Given the description of an element on the screen output the (x, y) to click on. 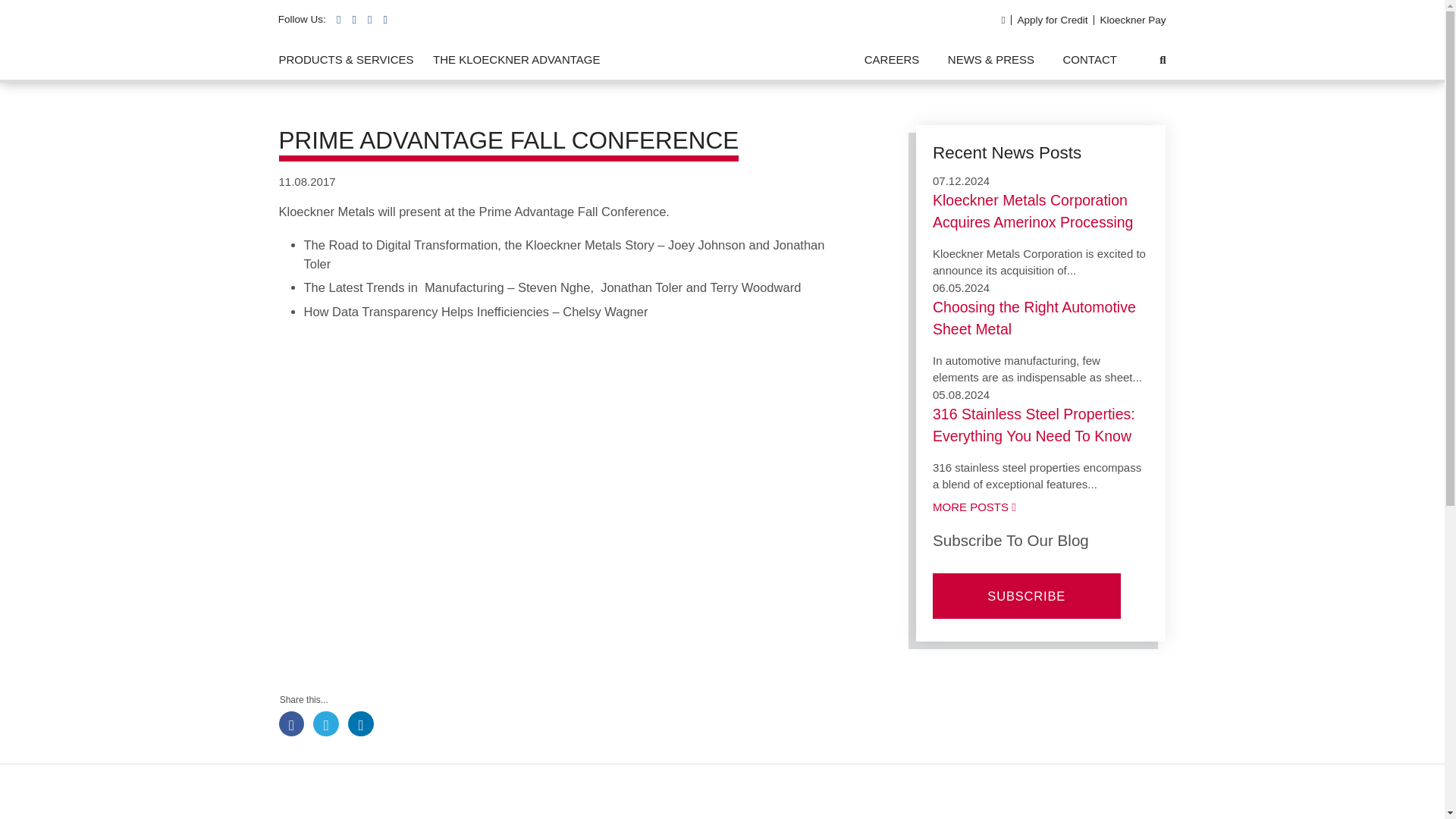
Kloeckner Pay (1132, 19)
CONTACT (1089, 59)
Apply for Credit (1051, 19)
CAREERS (892, 59)
THE KLOECKNER ADVANTAGE (515, 59)
